Given the description of an element on the screen output the (x, y) to click on. 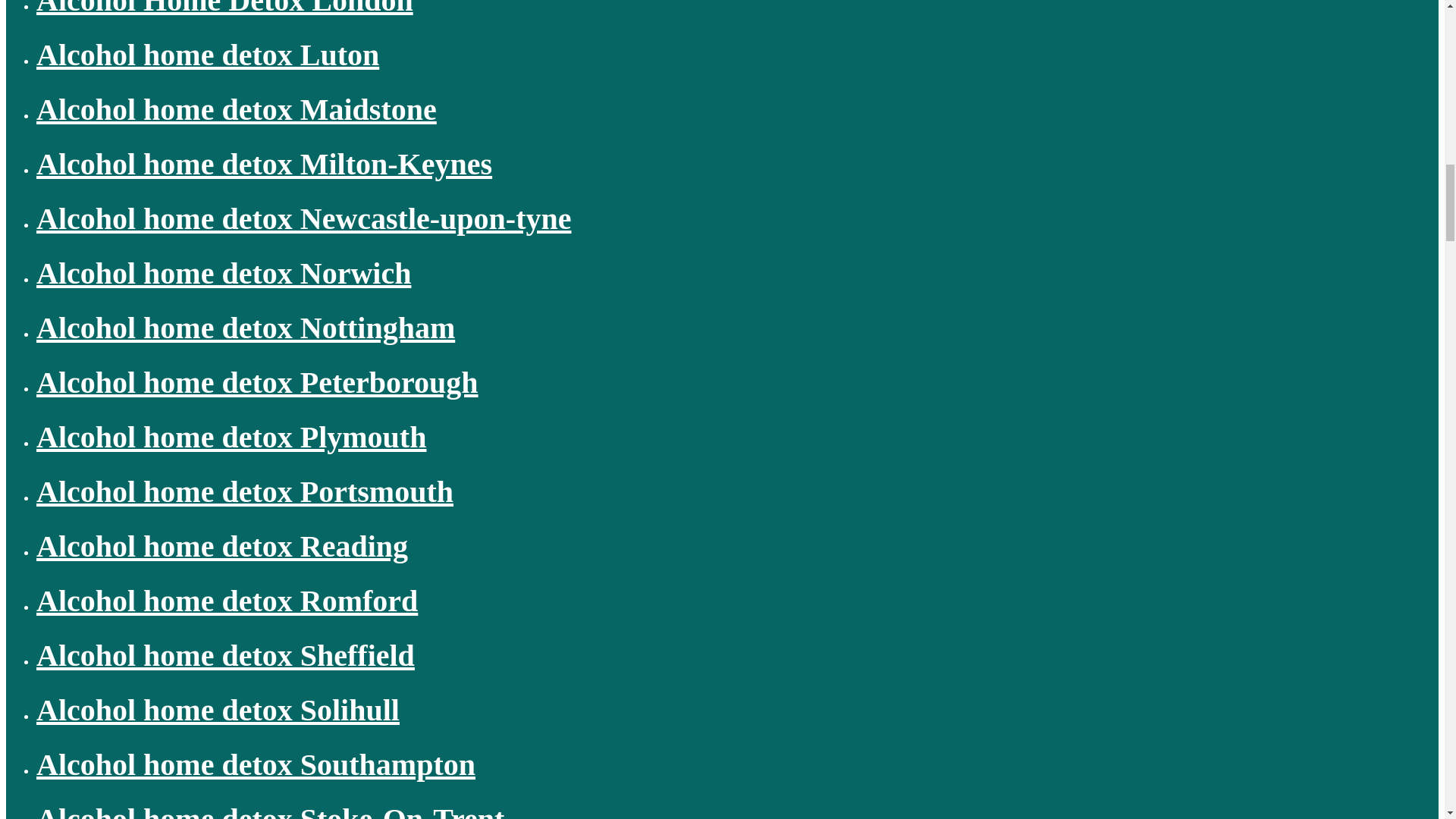
Alcohol home detox Nottingham (245, 327)
Alcohol home detox Luton (207, 54)
Alcohol Home Detox London (224, 8)
Alcohol home detox Newcastle-upon-tyne (304, 218)
Alcohol home detox Plymouth (231, 437)
Alcohol home detox Peterborough (257, 382)
Alcohol home detox Maidstone (236, 109)
Alcohol home detox Norwich (223, 273)
Alcohol home detox Milton-Keynes (264, 163)
Alcohol home detox Portsmouth (244, 491)
Alcohol home detox Reading (221, 546)
